Given the description of an element on the screen output the (x, y) to click on. 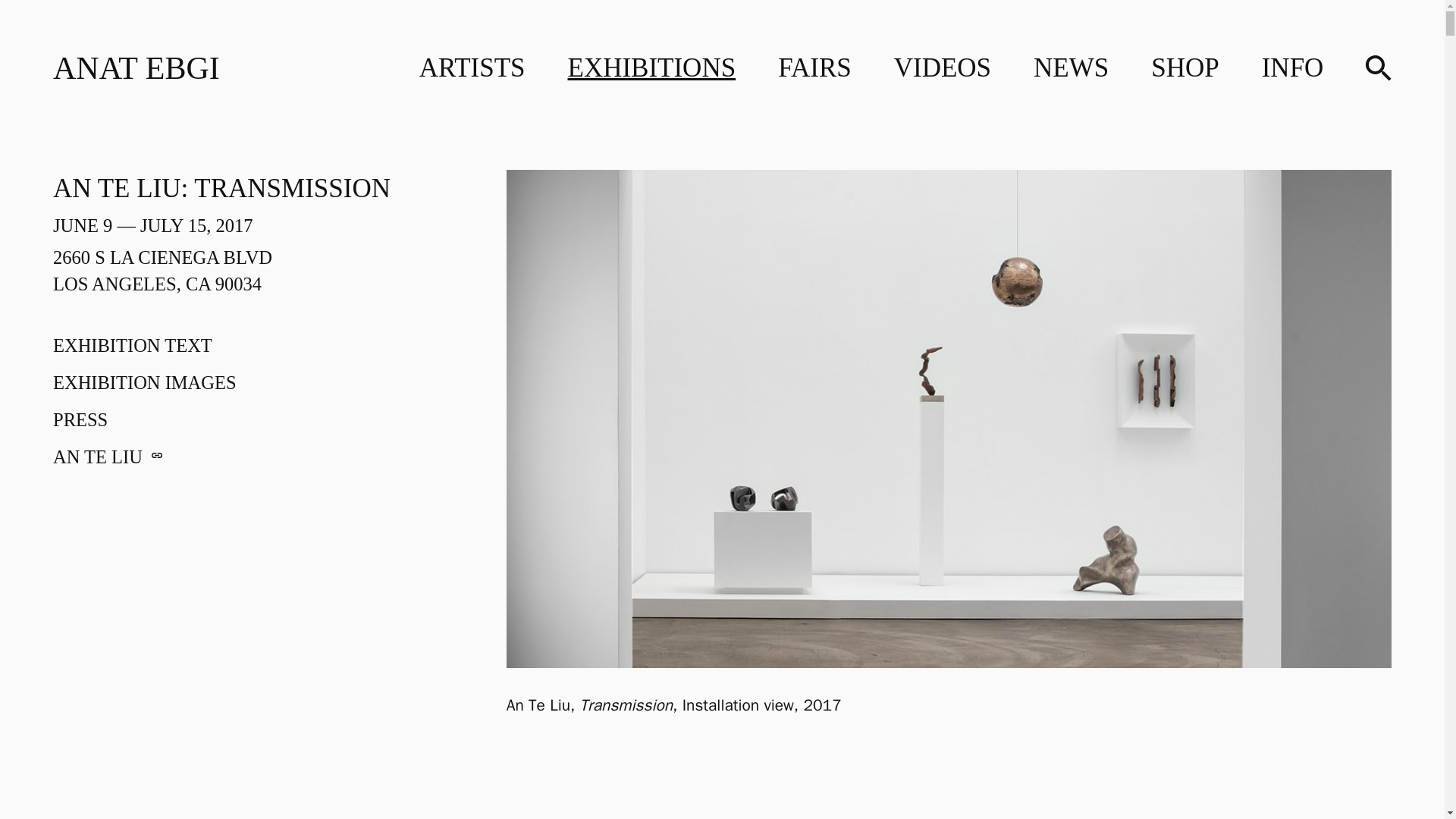
NEWS (1070, 67)
EXHIBITION IMAGES (135, 67)
VIDEOS (143, 382)
ARTISTS (942, 67)
EXHIBITION TEXT (472, 67)
INFO (132, 344)
EXHIBITION TEXT (1292, 67)
PRESS (132, 344)
AN TE LIU   (79, 419)
